Given the description of an element on the screen output the (x, y) to click on. 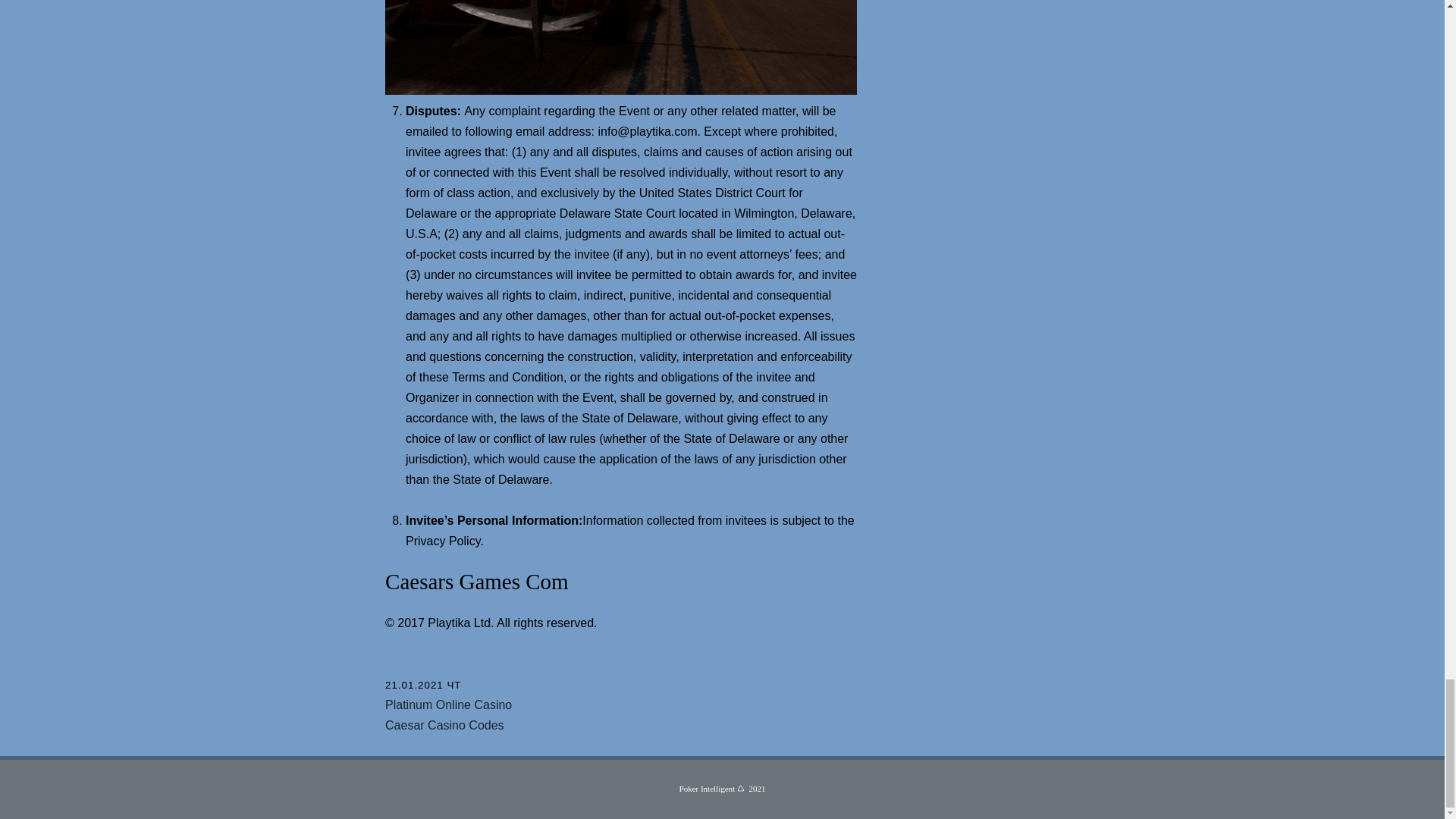
Platinum Online Casino (448, 704)
Caesar Casino Codes (444, 725)
Ceasers Games Com (621, 47)
Poker Intelligent (707, 788)
Poker Intelligent (707, 788)
